Given the description of an element on the screen output the (x, y) to click on. 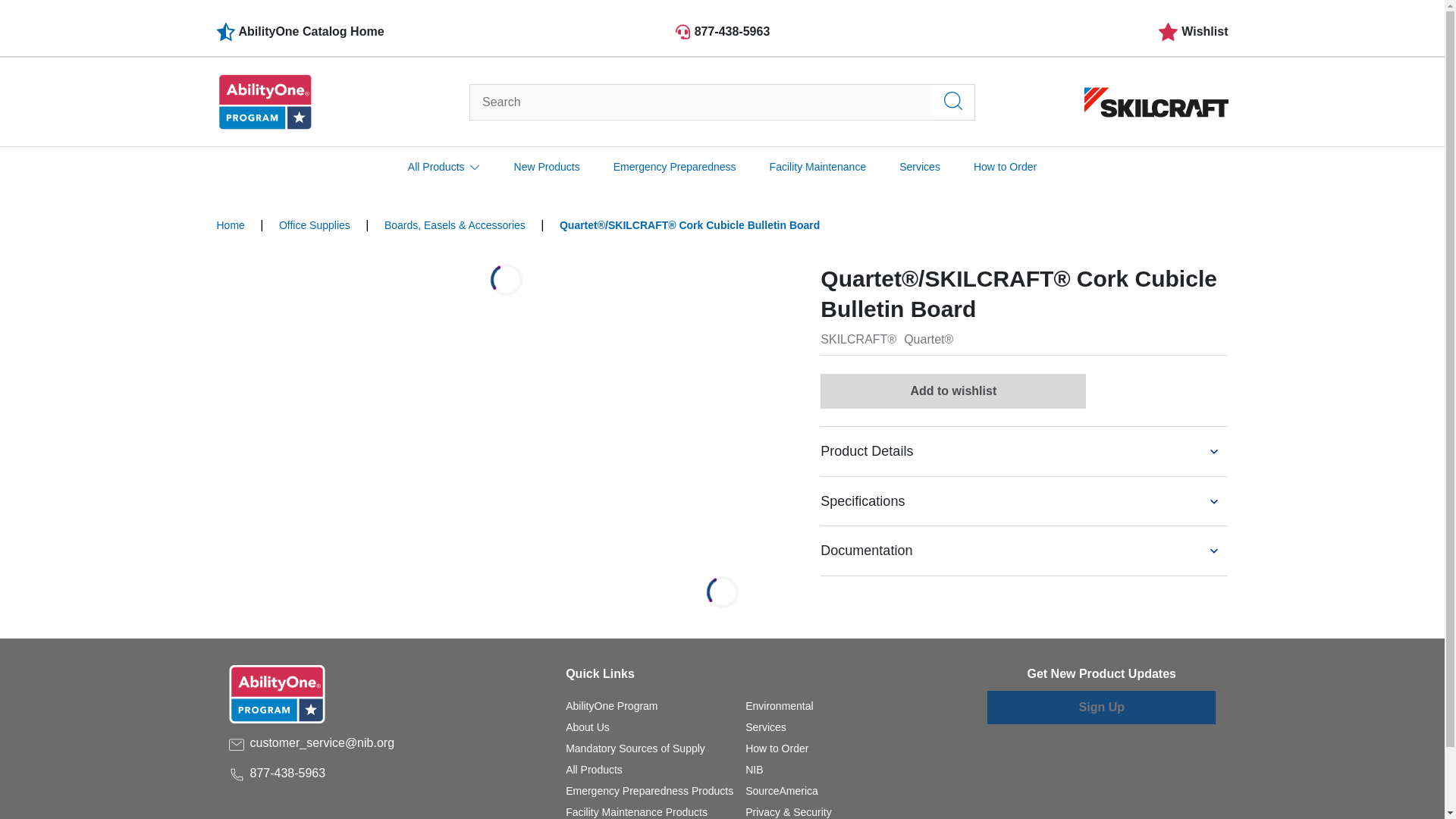
Services (765, 727)
NIB (753, 769)
New Products (546, 166)
About Us (588, 727)
Emergency Preparedness Products (649, 790)
Emergency Preparedness (674, 166)
Wishlist (1192, 31)
AbilityOne Program (612, 705)
AbilityOne Catalog Home (385, 31)
Facility Maintenance (818, 166)
SourceAmerica (781, 790)
Services (765, 727)
All Products (594, 769)
Add to wishlist (953, 390)
How to Order (776, 748)
